Given the description of an element on the screen output the (x, y) to click on. 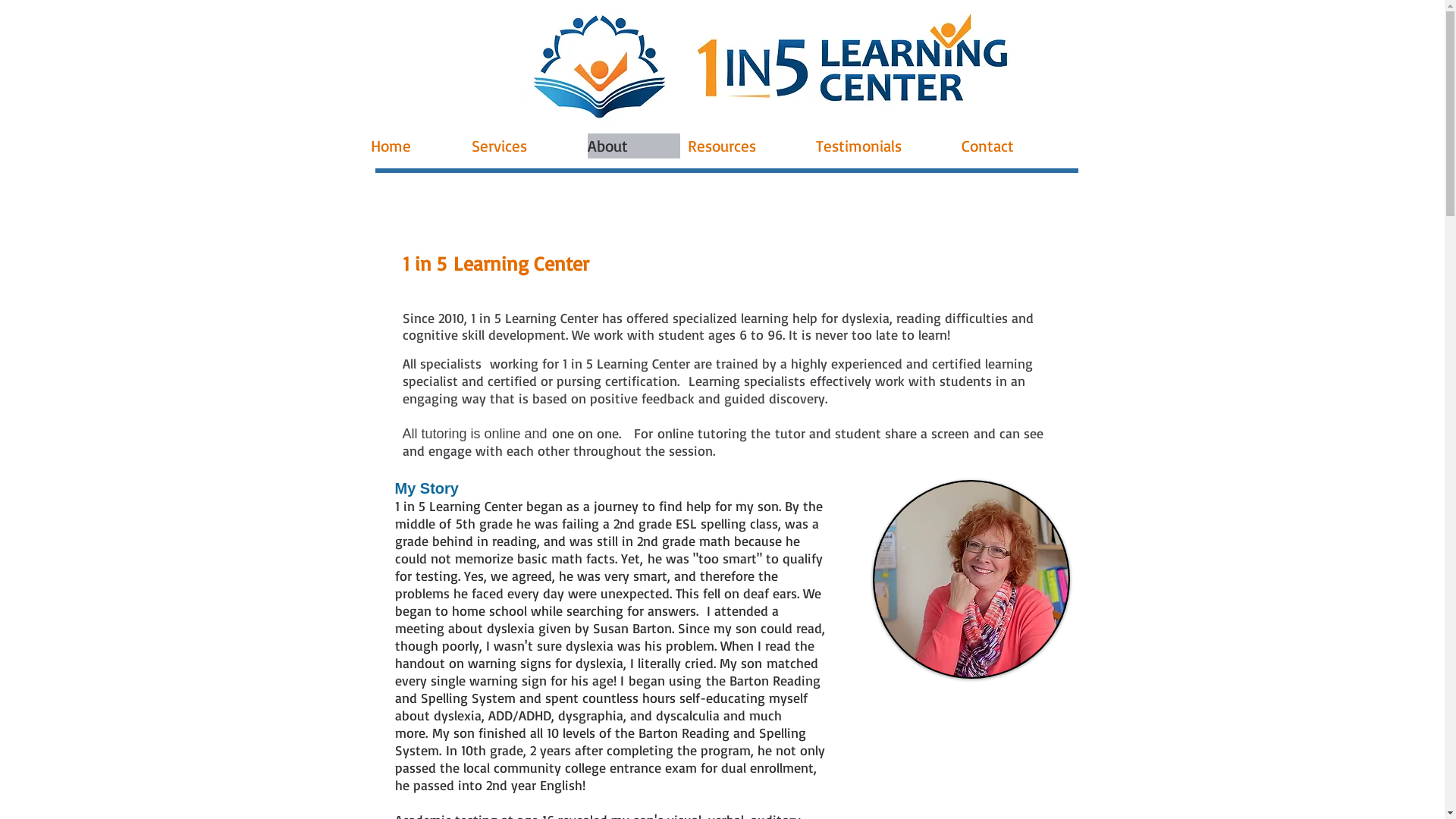
Services Element type: text (525, 145)
About Element type: text (632, 145)
Contact Element type: text (1013, 145)
Testimonials Element type: text (884, 145)
Home Element type: text (416, 145)
Resources Element type: text (747, 145)
